Given the description of an element on the screen output the (x, y) to click on. 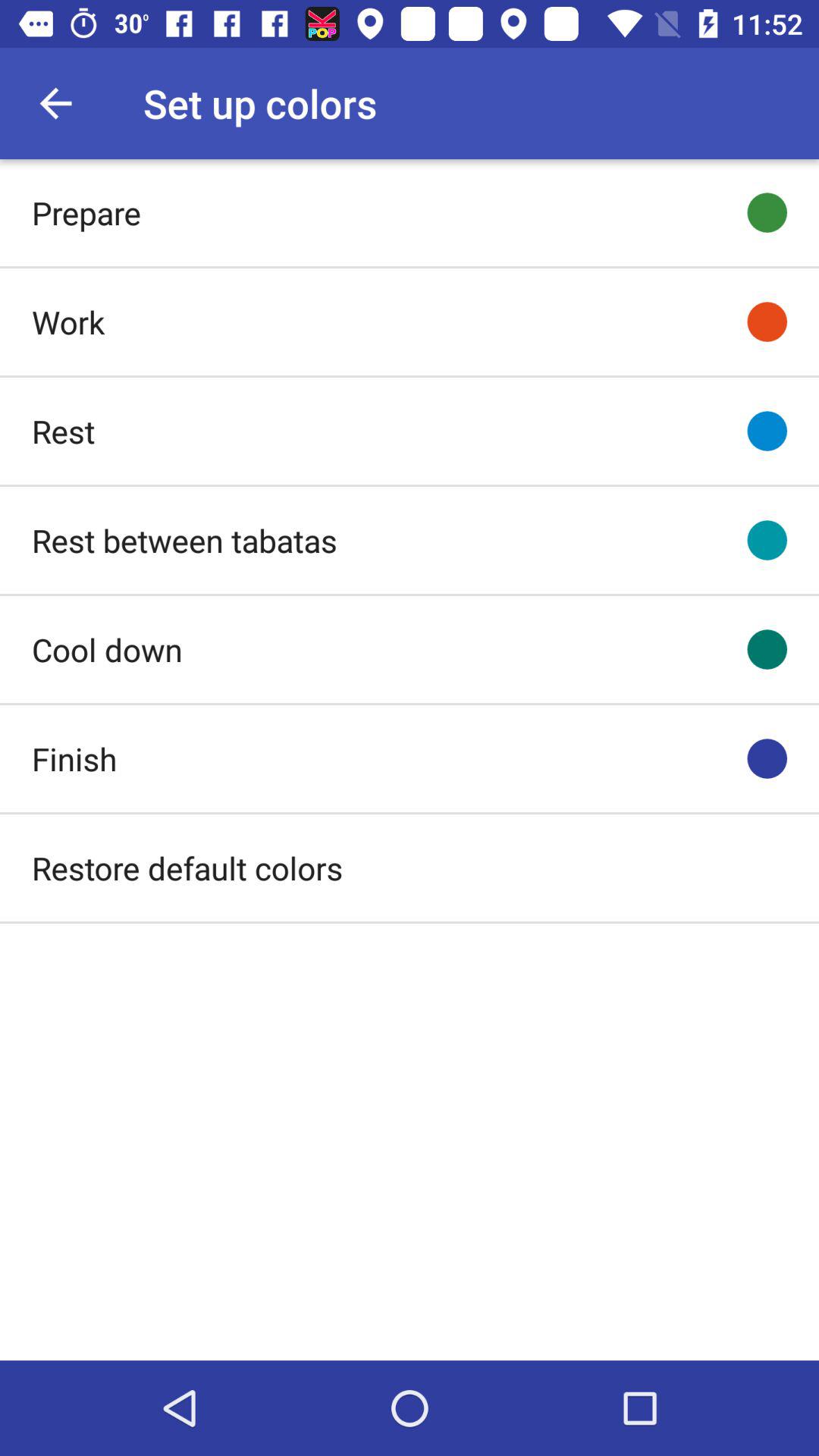
select the icon above restore default colors (74, 758)
